Given the description of an element on the screen output the (x, y) to click on. 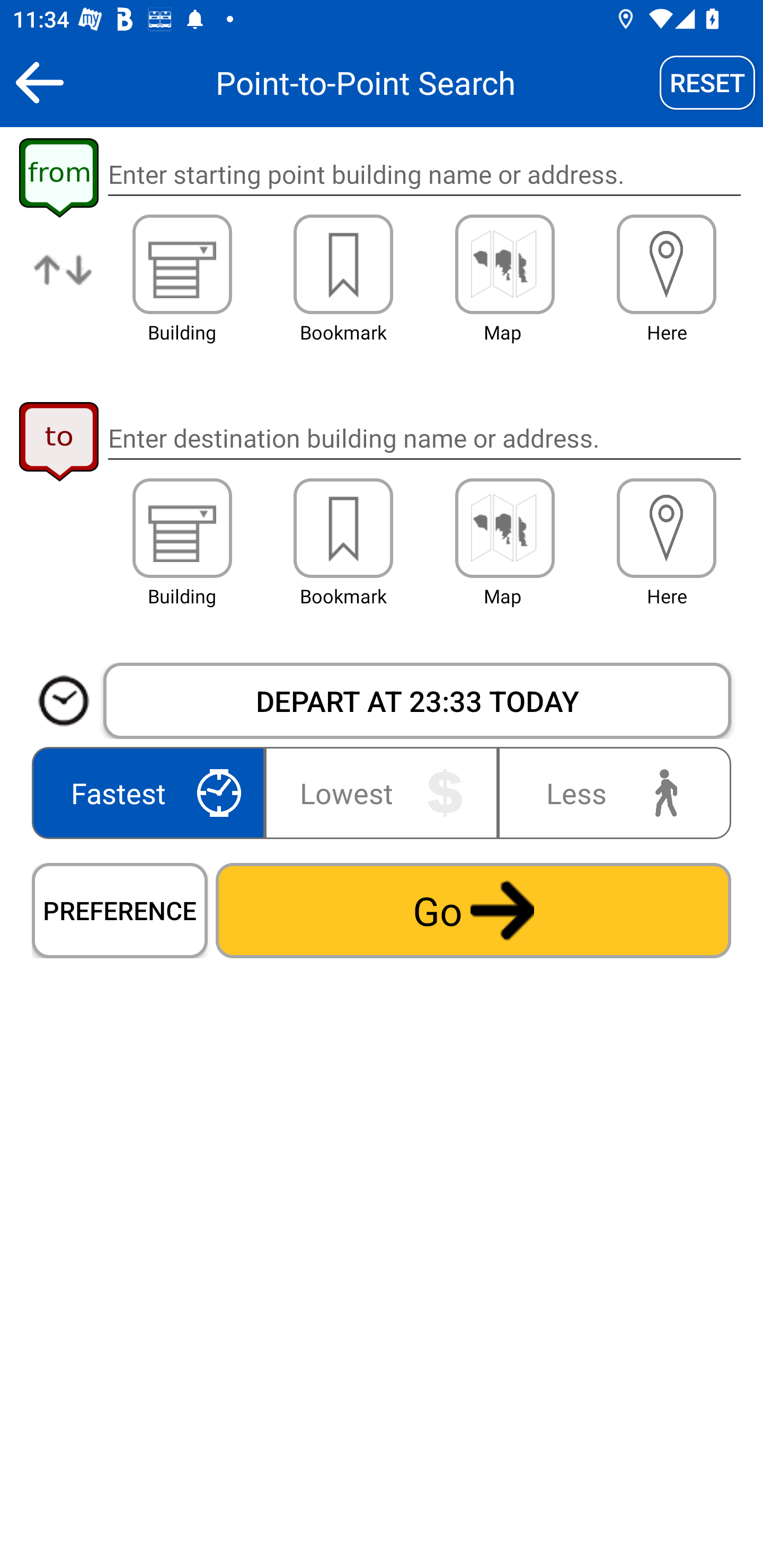
Back (39, 82)
RESET Reset (707, 81)
Enter starting point building name or address. (423, 174)
Building (181, 263)
Bookmarks (342, 263)
Select location on map (504, 263)
Here (666, 263)
Swap origin and destination (63, 284)
Enter destination building name or address. (423, 437)
Building (181, 528)
Bookmarks (342, 528)
Select location on map (504, 528)
Here (666, 528)
Lowest (381, 792)
Fastest selected (151, 792)
Less (610, 792)
PREFERENCE Preference (119, 910)
Go (472, 910)
